Given the description of an element on the screen output the (x, y) to click on. 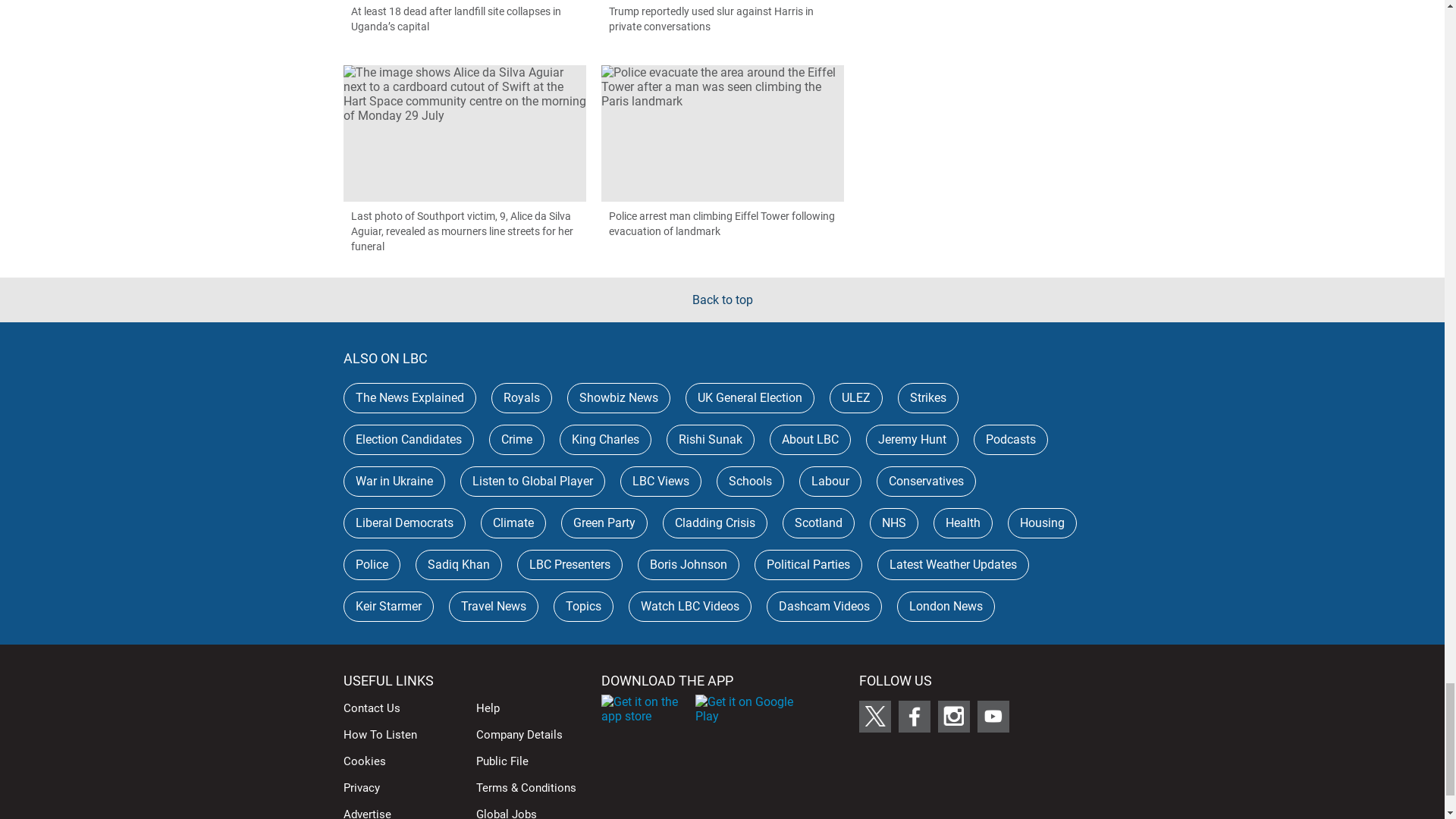
Follow LBC on X (874, 716)
Follow LBC on Youtube (992, 716)
Back to top (721, 299)
Follow LBC on Facebook (914, 716)
Follow LBC on Instagram (953, 716)
